Given the description of an element on the screen output the (x, y) to click on. 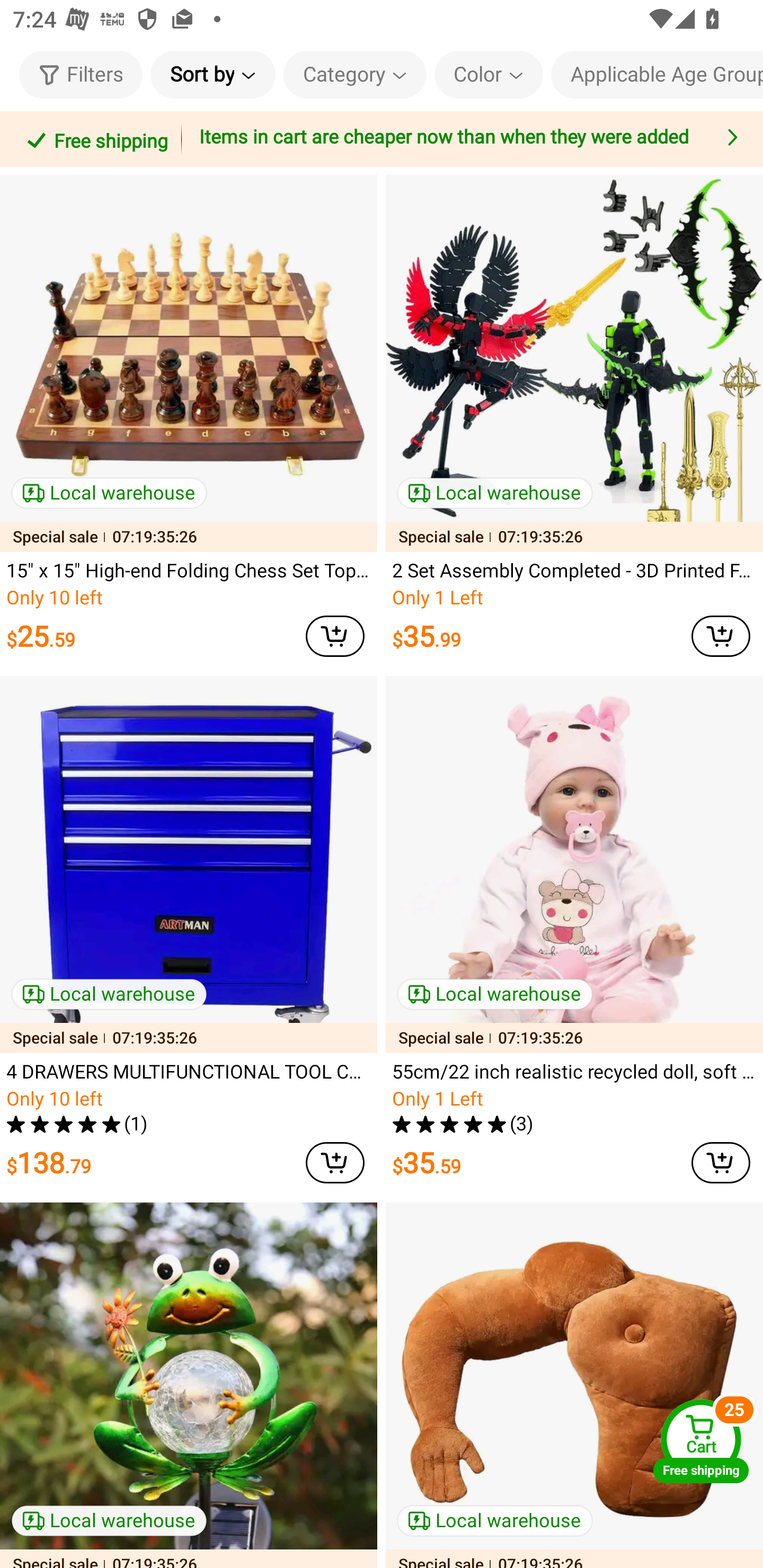
Filters (80, 74)
Sort by (212, 74)
Category (354, 74)
Color (488, 74)
Applicable Age Group (656, 74)
 Free shipping (93, 138)
Cart Free shipping Cart (701, 1440)
